Given the description of an element on the screen output the (x, y) to click on. 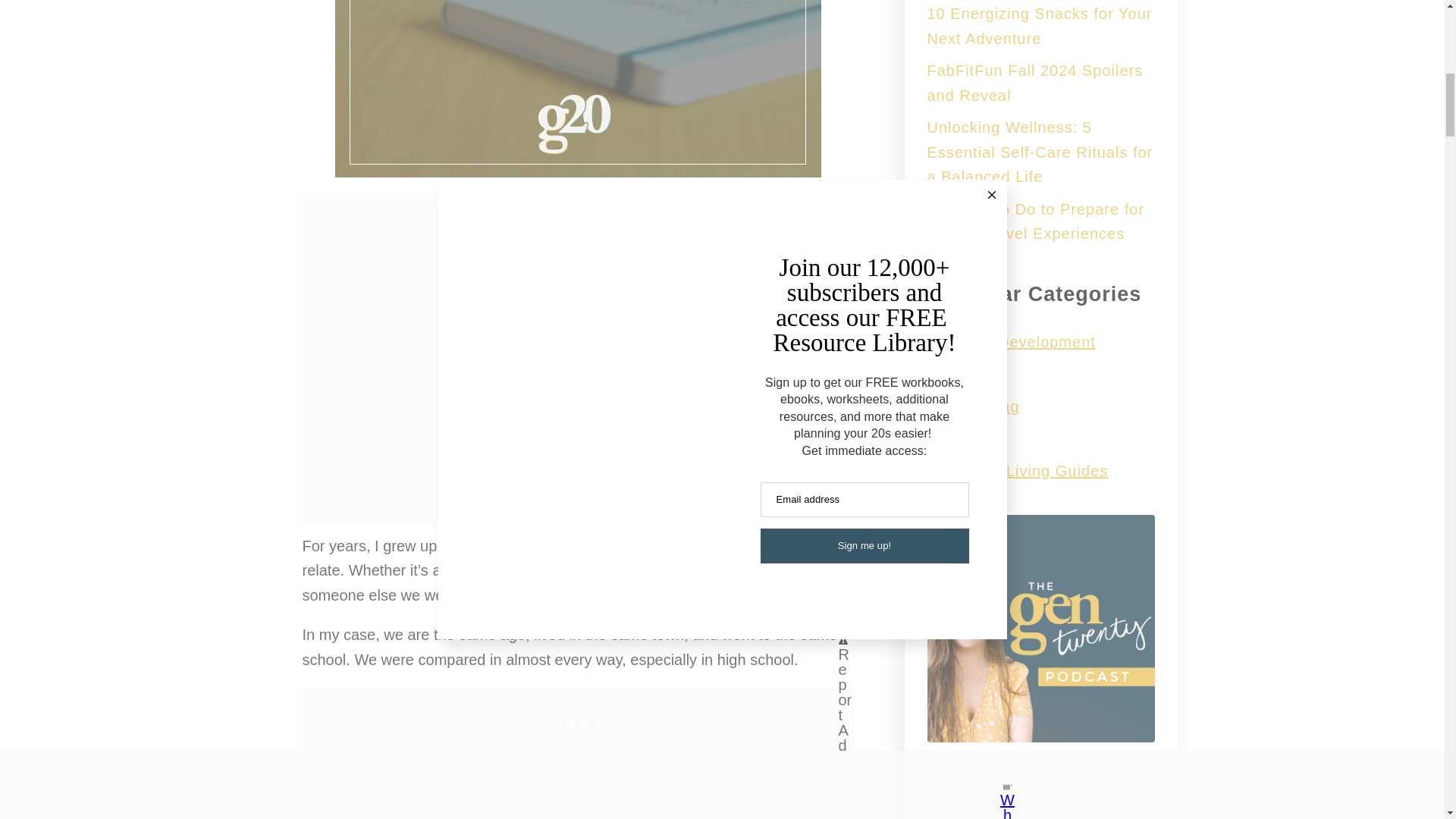
10 Energizing Snacks for Your Next Adventure (1038, 25)
6 Things to Do to Prepare for Luxury Travel Experiences (1035, 221)
FabFitFun Fall 2024 Spoilers and Reveal (1034, 83)
Goal Setting (972, 406)
3rd party ad content (577, 287)
3rd party ad content (577, 721)
Personal Development (1010, 341)
Career (951, 373)
Finance (955, 437)
Non-Toxic Living Guides (1017, 470)
